Given the description of an element on the screen output the (x, y) to click on. 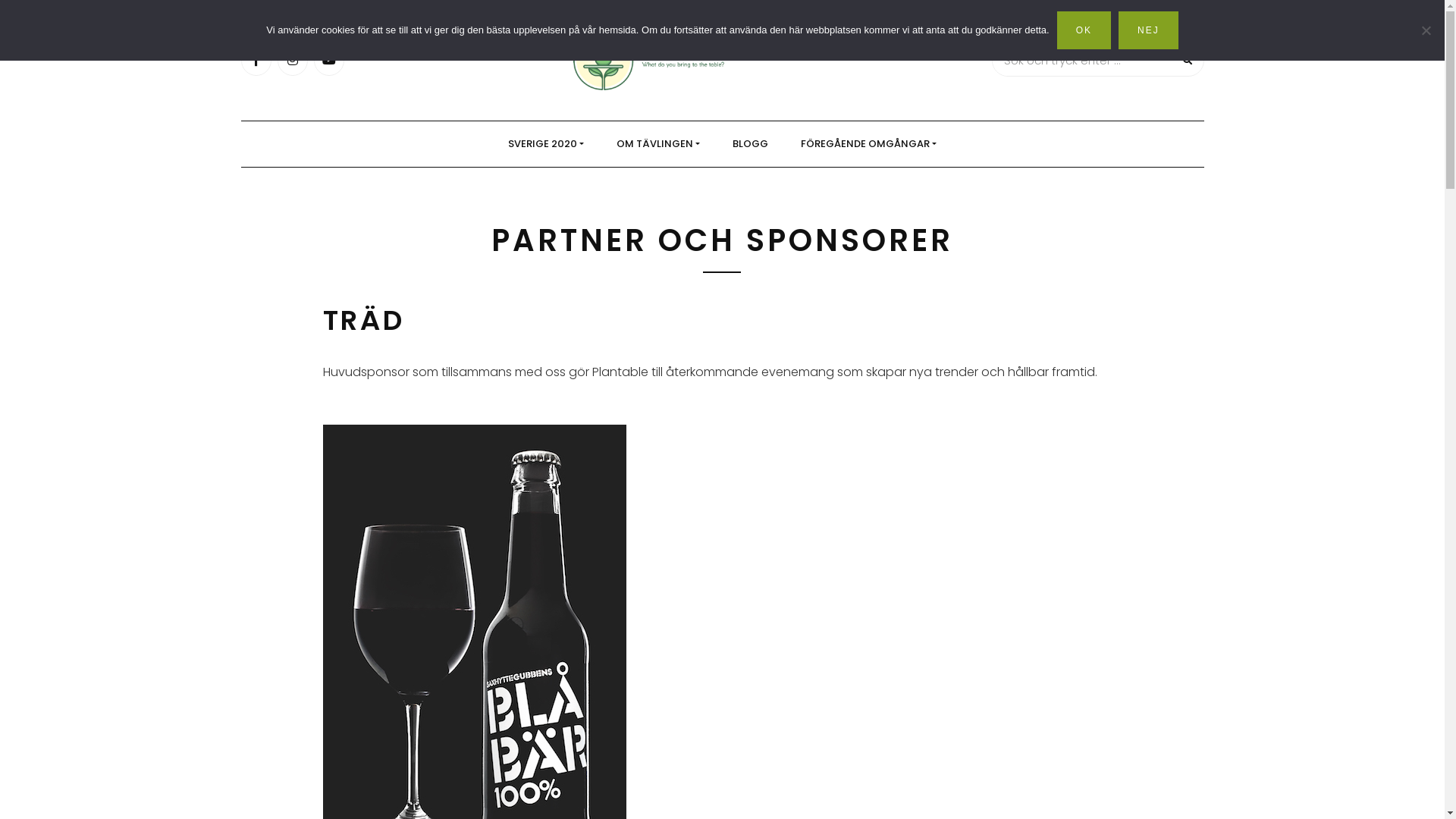
OK Element type: text (1083, 30)
NEJ Element type: text (1148, 30)
BLOGG Element type: text (750, 143)
Nej Element type: hover (1425, 29)
SVERIGE 2020 Element type: text (545, 143)
